Given the description of an element on the screen output the (x, y) to click on. 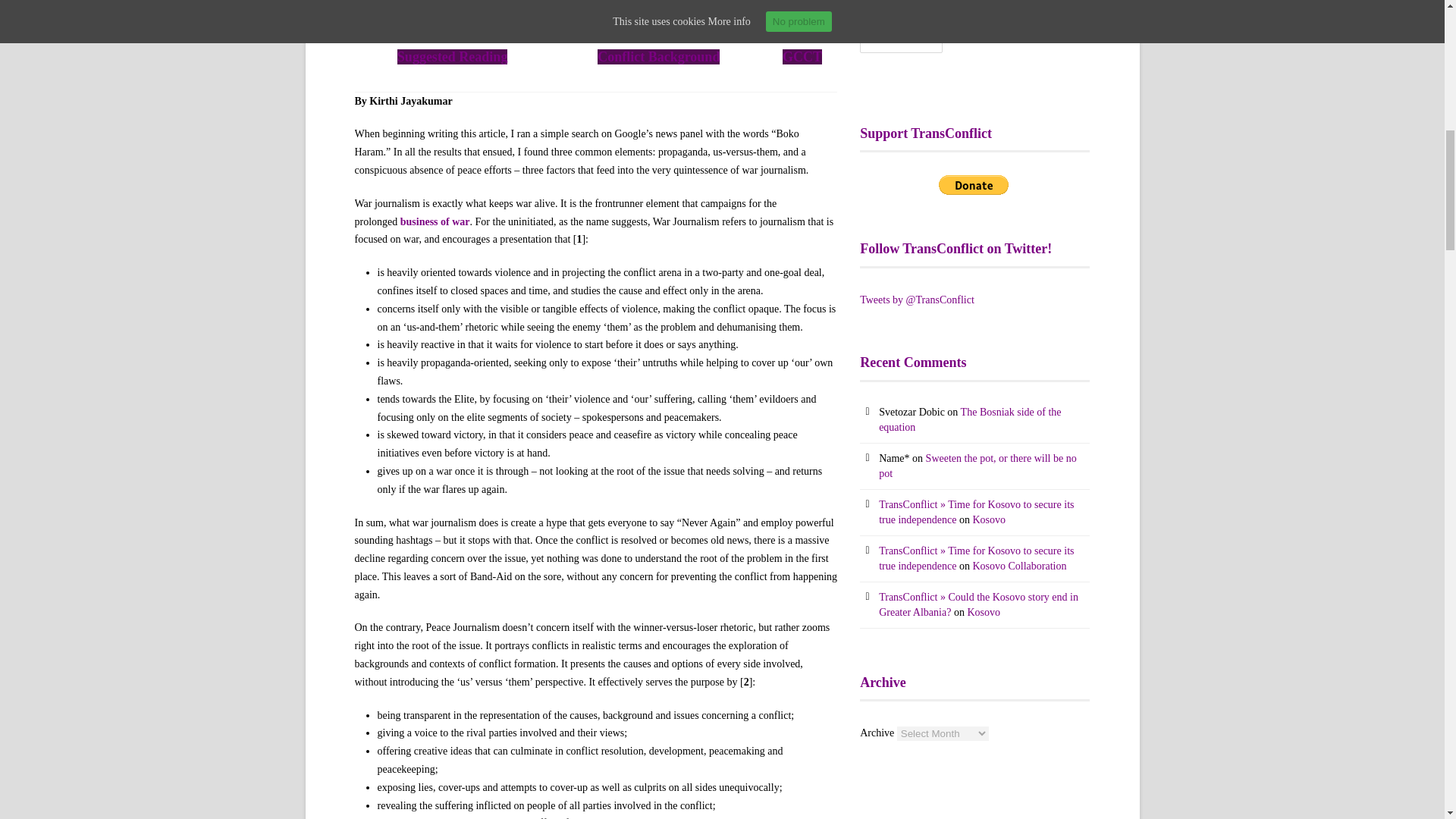
Subscribe (901, 39)
